Given the description of an element on the screen output the (x, y) to click on. 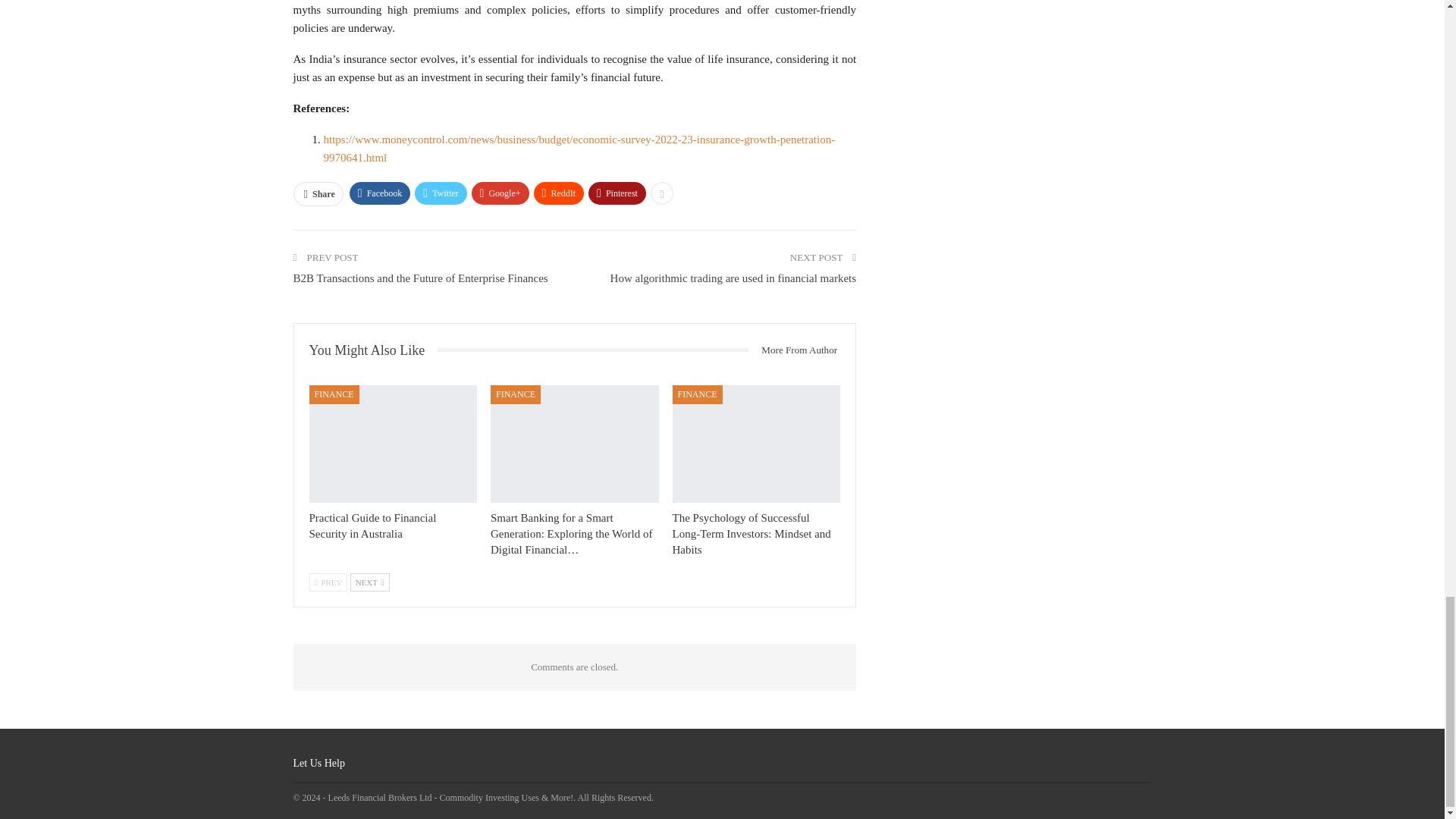
Practical Guide to Financial Security in Australia (392, 443)
Previous (327, 582)
Pinterest (617, 192)
B2B Transactions and the Future of Enterprise Finances (419, 277)
Practical Guide to Financial Security in Australia (372, 525)
ReddIt (559, 192)
Next (370, 582)
Facebook (379, 192)
Twitter (439, 192)
